Given the description of an element on the screen output the (x, y) to click on. 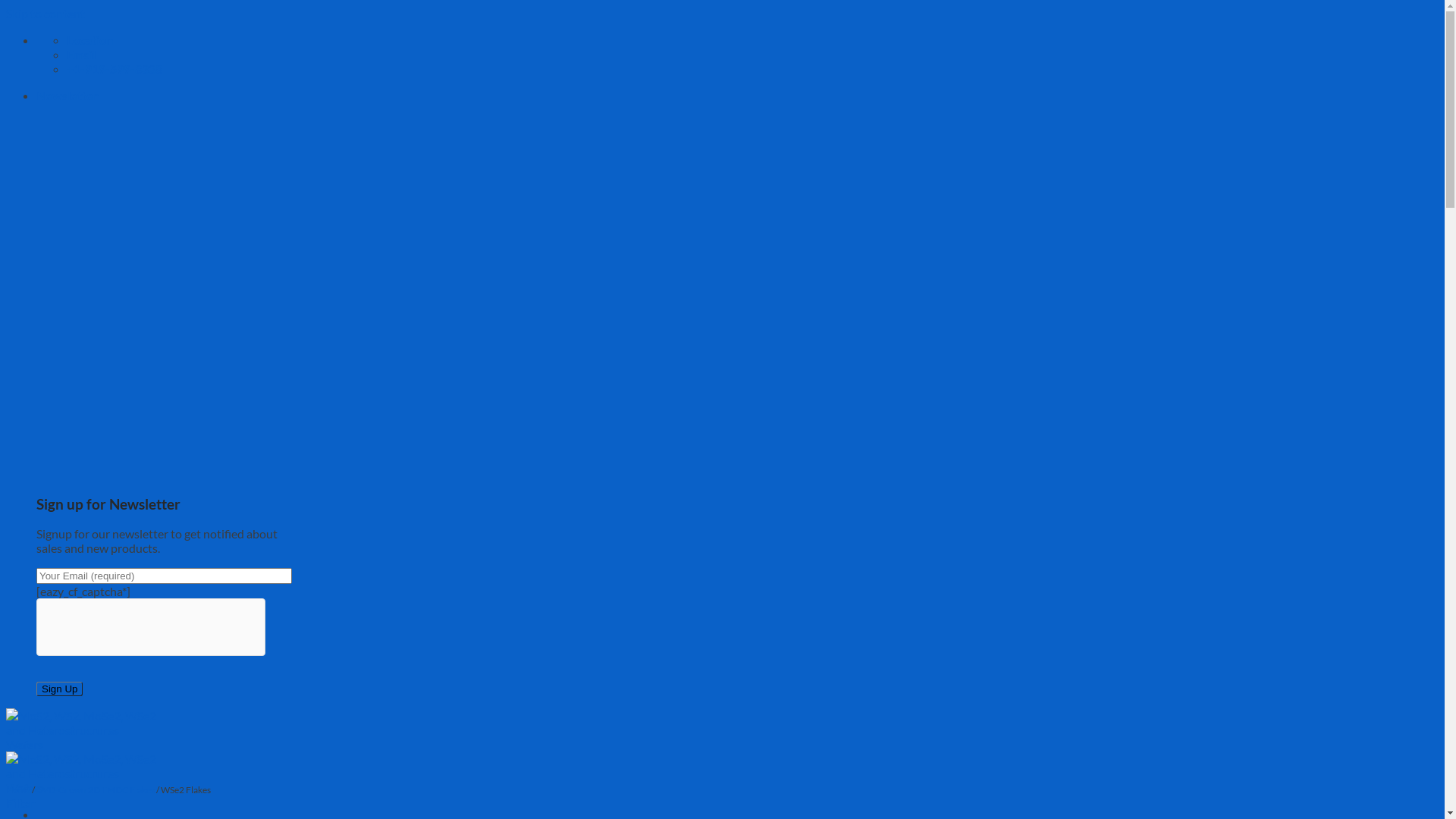
+1-919-599-8338 Element type: text (114, 68)
Newsletter Element type: text (67, 94)
Filter Element type: text (20, 802)
Location Element type: text (89, 39)
CVD-Grown 2D TMDC Flakes Element type: text (95, 789)
Home Element type: text (18, 789)
MoS2, WS2, MoSe2, WSe2 and Heterostrucrures Wafers Element type: hover (81, 765)
Skip to content Element type: text (45, 13)
Email Element type: text (80, 54)
Sign Up Element type: text (59, 688)
